Given the description of an element on the screen output the (x, y) to click on. 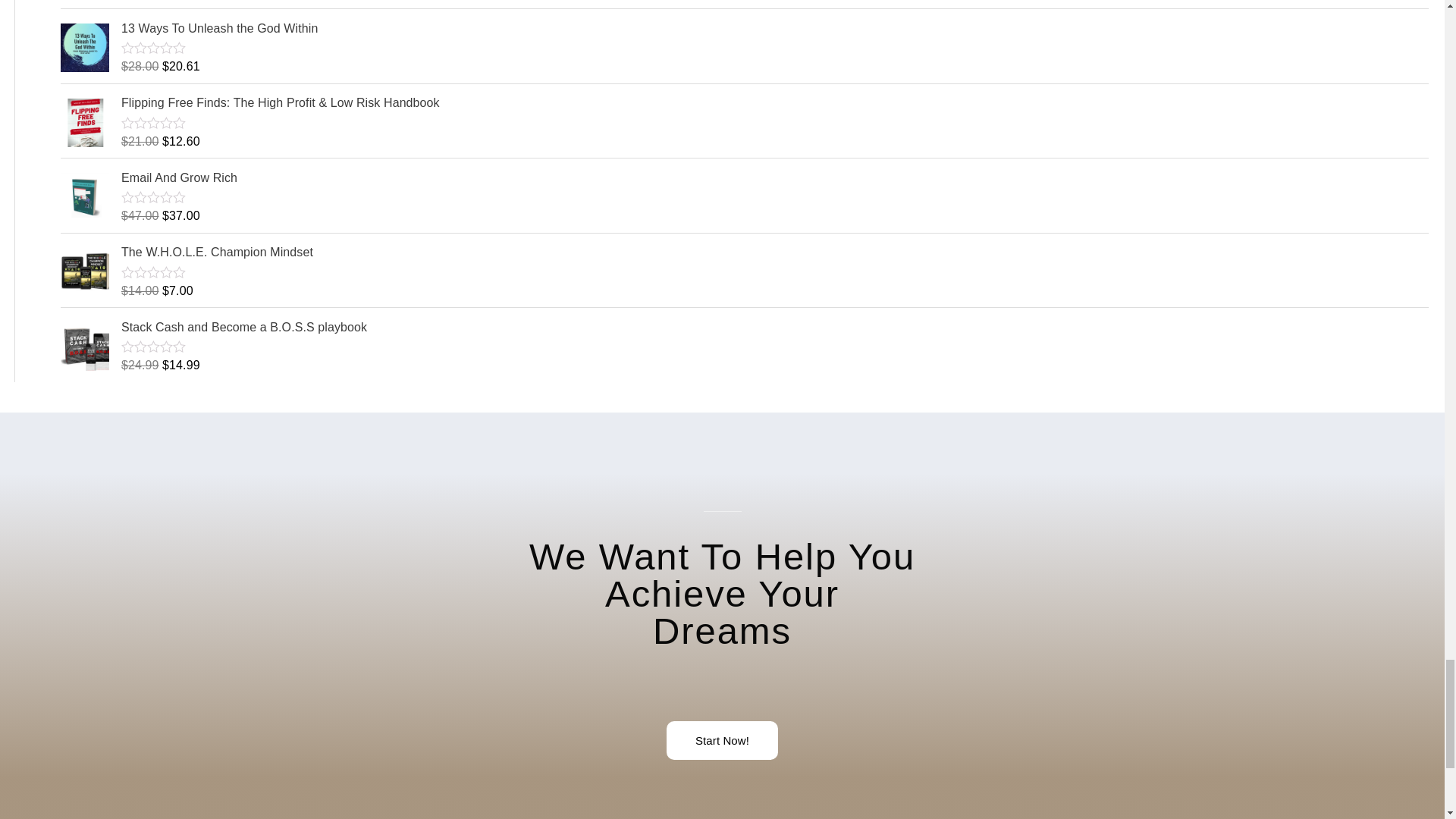
The W.H.O.L.E. Champion Mindset (774, 252)
13 Ways To Unleash the God Within (774, 28)
Start Now! (721, 740)
Email And Grow Rich (774, 177)
Stack Cash and Become a B.O.S.S playbook (774, 327)
